Given the description of an element on the screen output the (x, y) to click on. 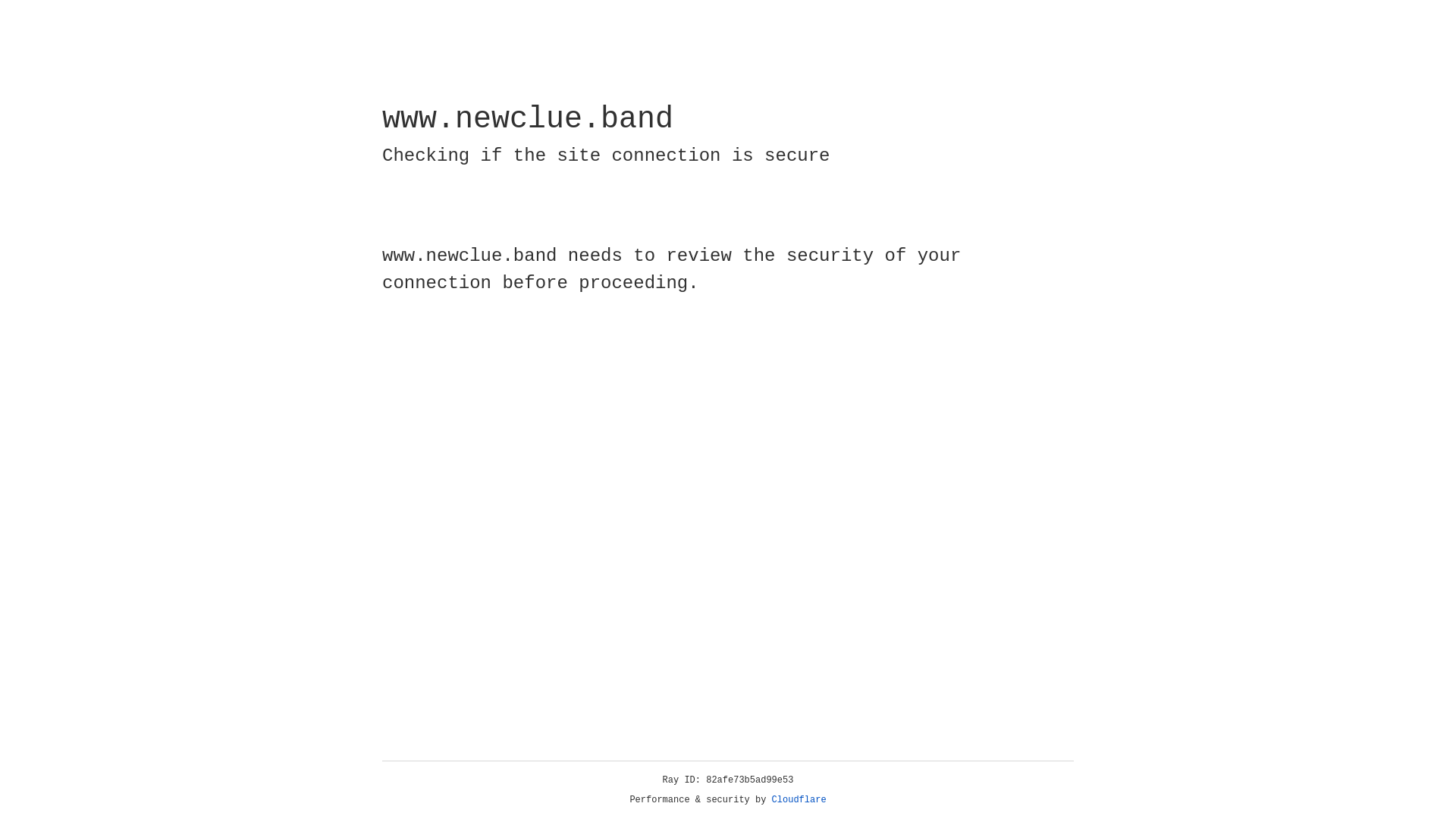
Cloudflare Element type: text (798, 799)
